Given the description of an element on the screen output the (x, y) to click on. 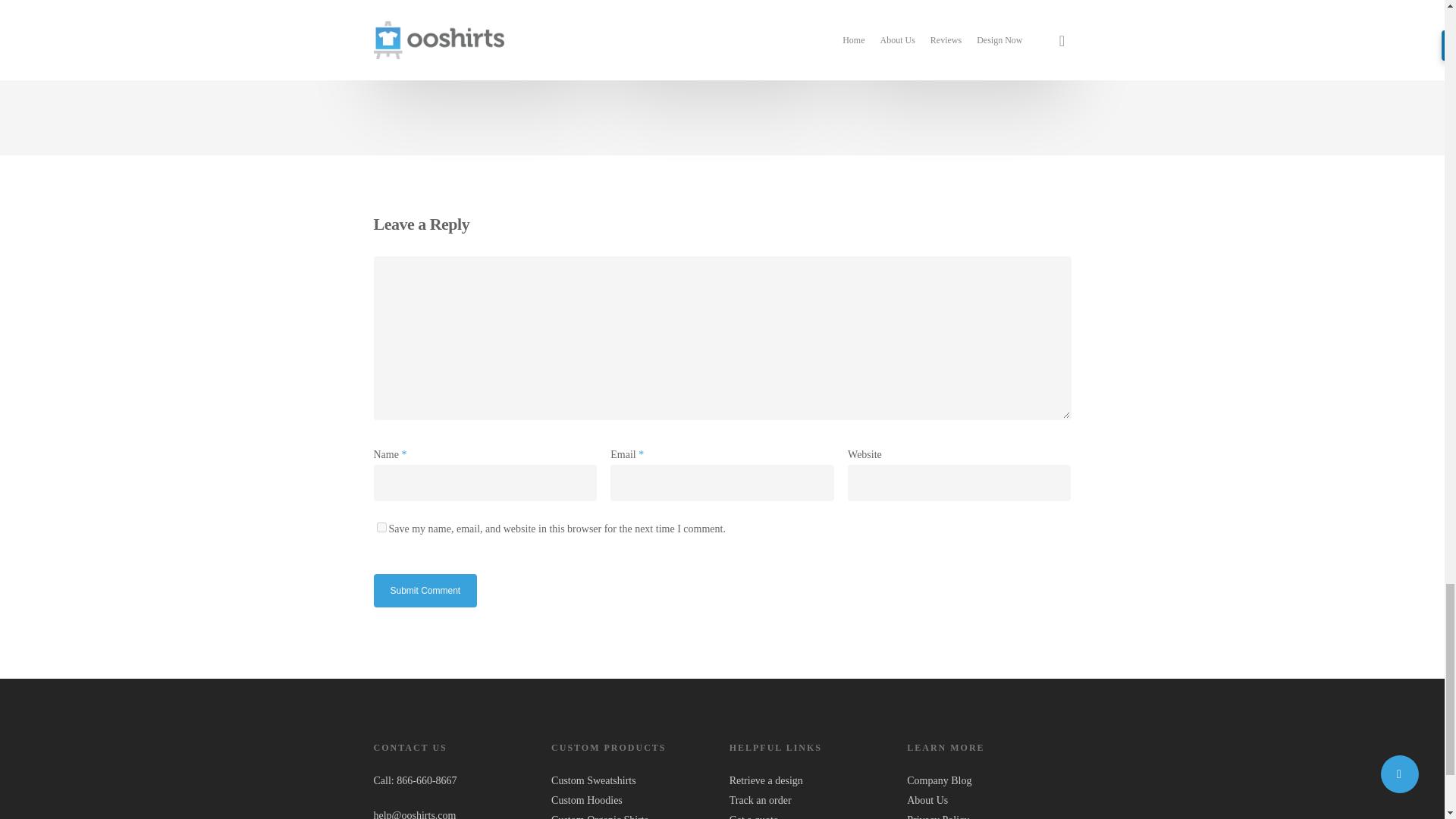
admin (469, 32)
Submit Comment (424, 590)
admin (946, 32)
yes (380, 527)
admin (707, 32)
Submit Comment (424, 590)
